Given the description of an element on the screen output the (x, y) to click on. 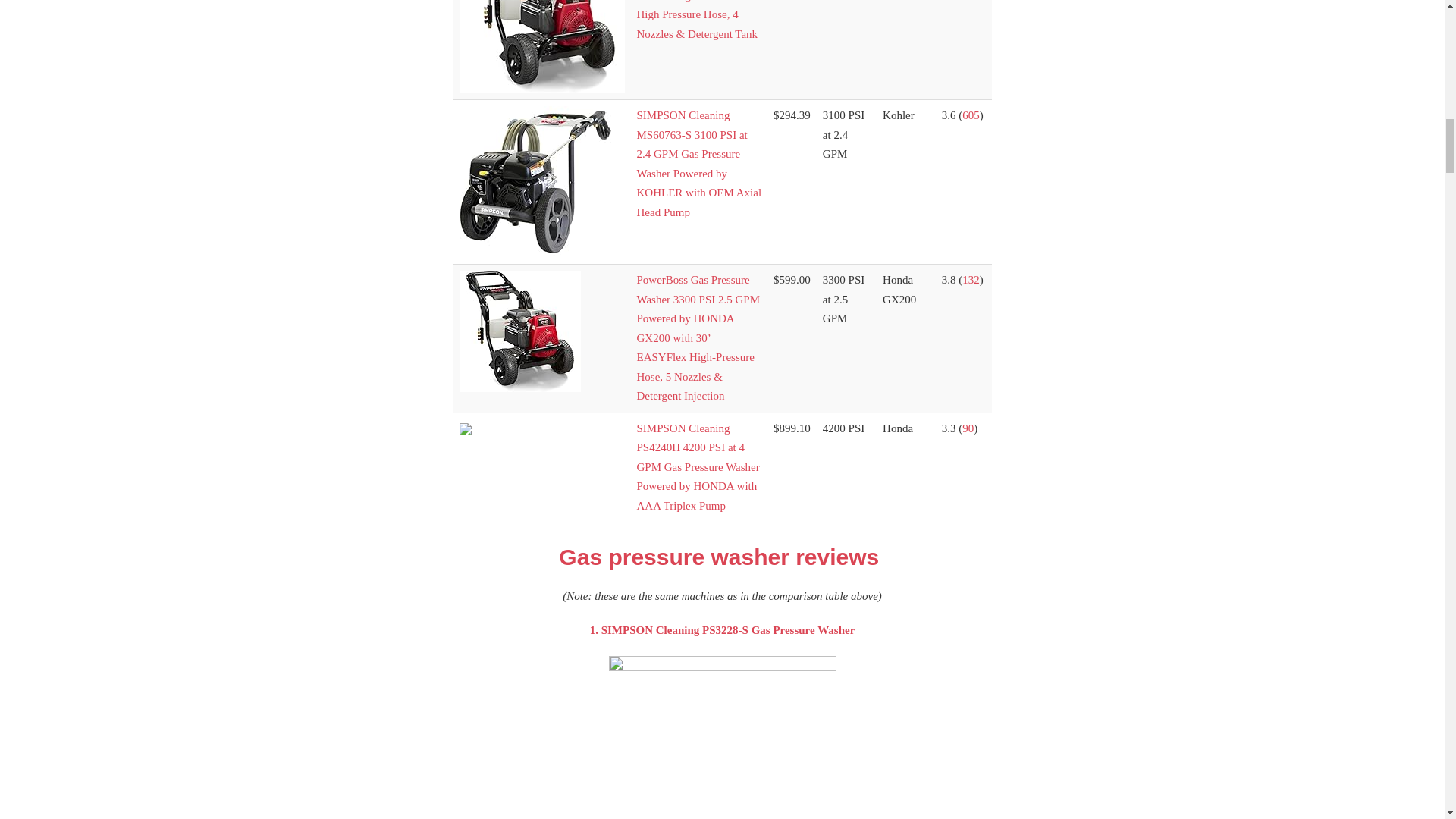
605 (970, 114)
132 (970, 279)
